Given the description of an element on the screen output the (x, y) to click on. 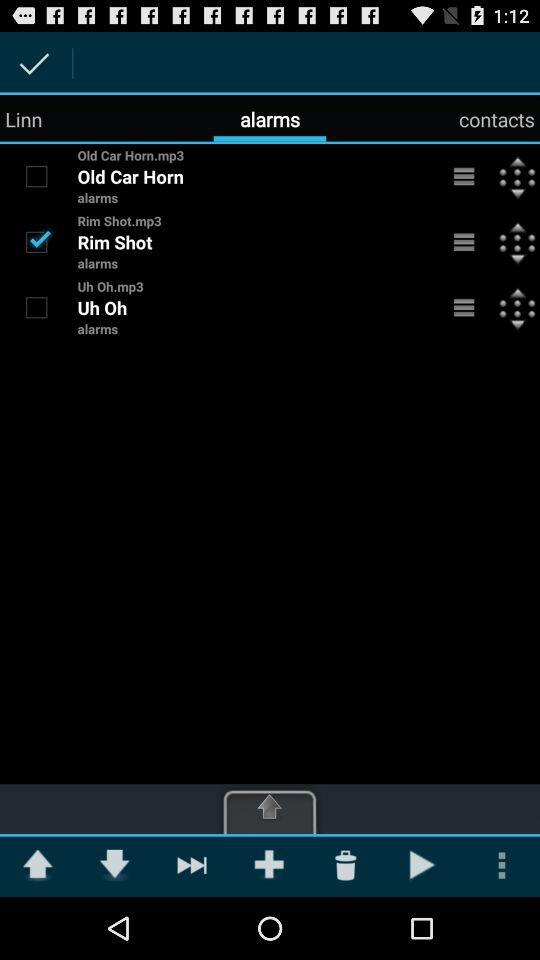
select option (36, 241)
